Given the description of an element on the screen output the (x, y) to click on. 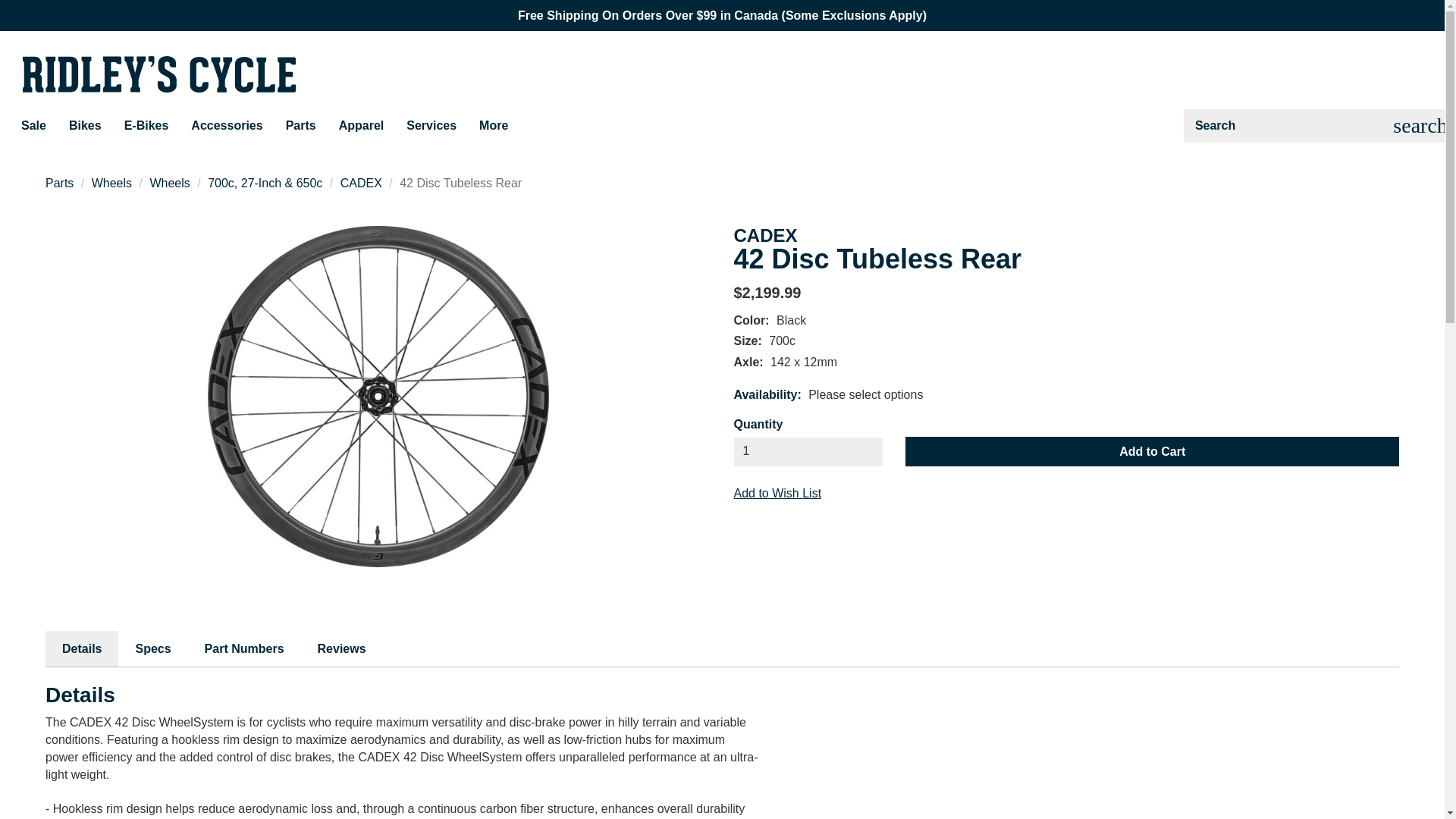
CADEX 42 Disc Tubeless Rear (378, 396)
Bikes (85, 125)
Ridley's Cycle Home Page (159, 74)
1 (808, 451)
Search (1292, 125)
Search (1420, 125)
Sale (33, 125)
